Given the description of an element on the screen output the (x, y) to click on. 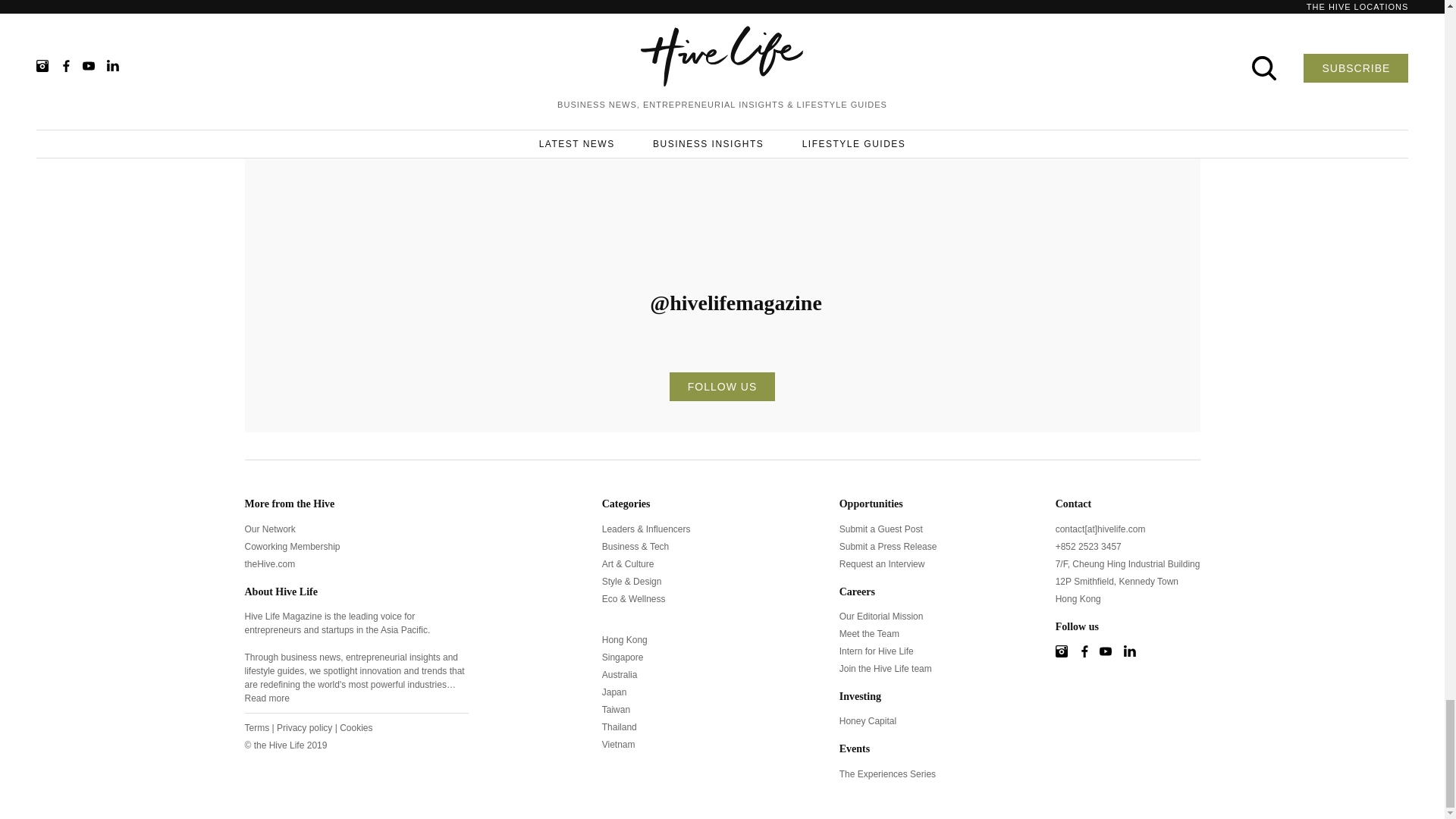
Instagram Analytics: 8 Crucial Metrics to Track Your Success (347, 30)
